Given the description of an element on the screen output the (x, y) to click on. 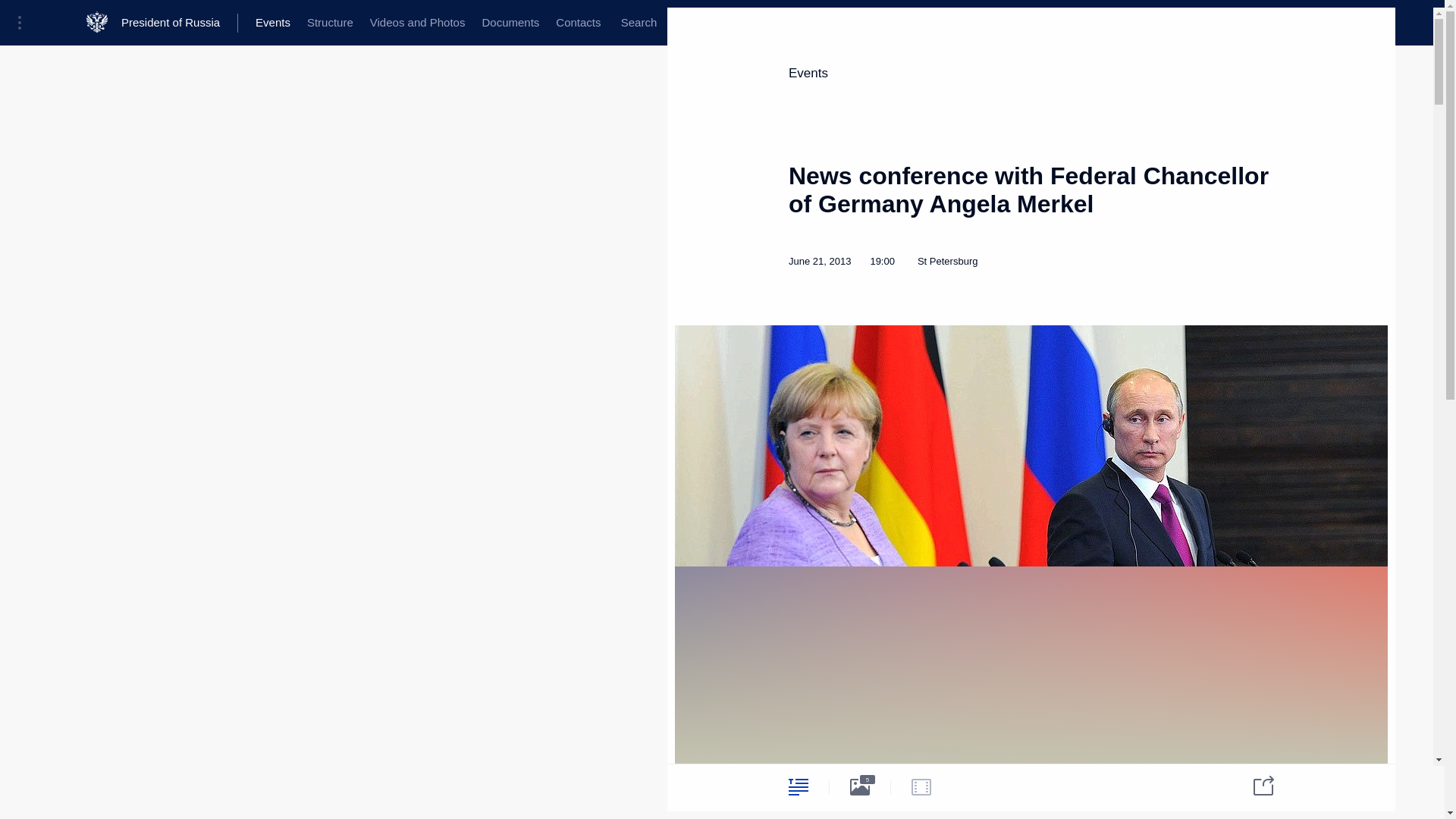
Contacts (548, 22)
Photo (200, 786)
President of Russia (175, 22)
Events (154, 99)
Text (137, 786)
Documents (484, 22)
Global website search (605, 22)
Video (261, 786)
Share (593, 784)
Search (605, 22)
Events (262, 22)
Structure (316, 22)
Videos and Photos (397, 22)
